Given the description of an element on the screen output the (x, y) to click on. 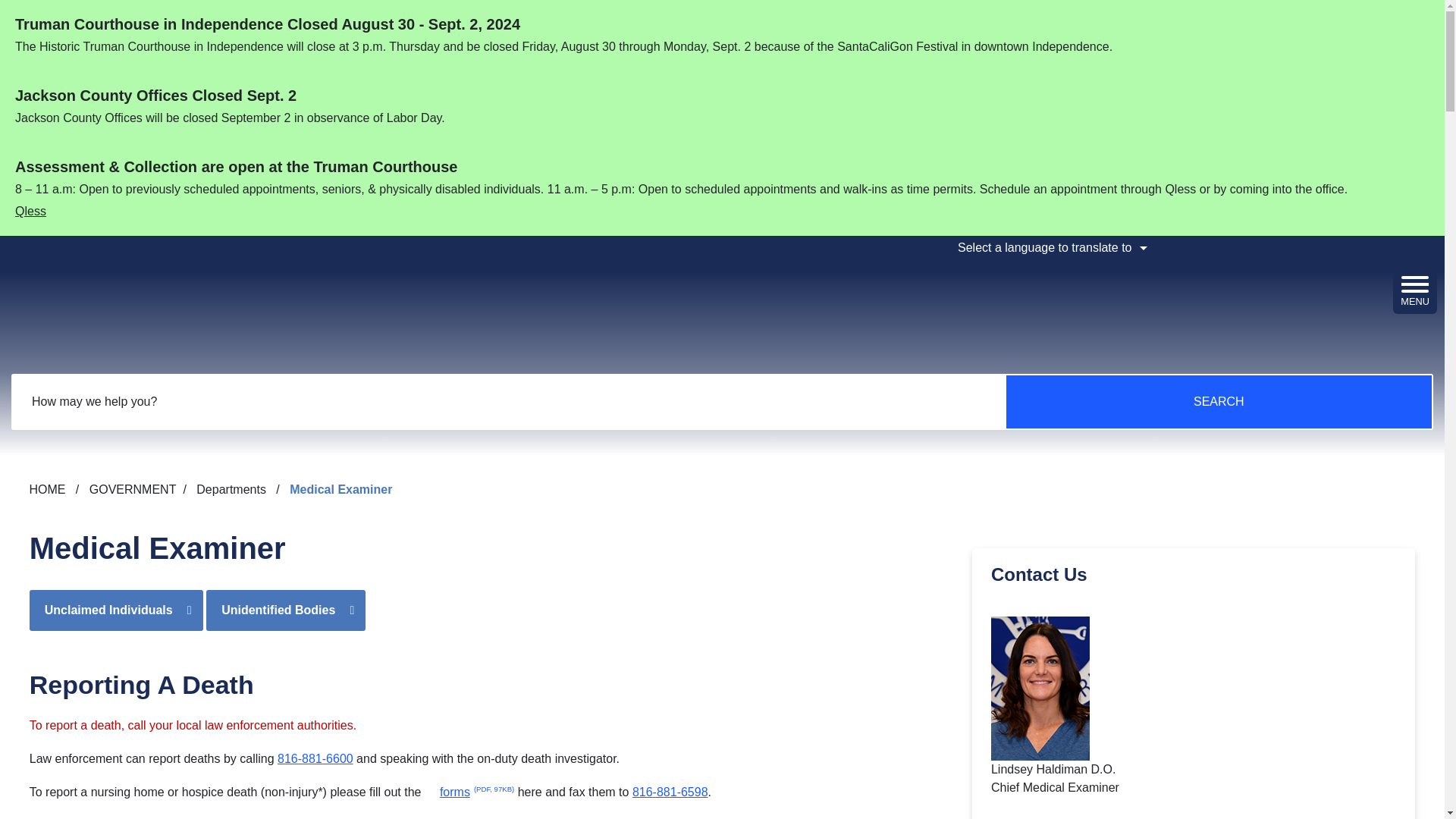
Qless (30, 209)
Select a language to translate to (1050, 247)
Search (1218, 401)
MENU (1414, 286)
Search (1218, 401)
Jackson County MO - Home - Logo (105, 306)
